Given the description of an element on the screen output the (x, y) to click on. 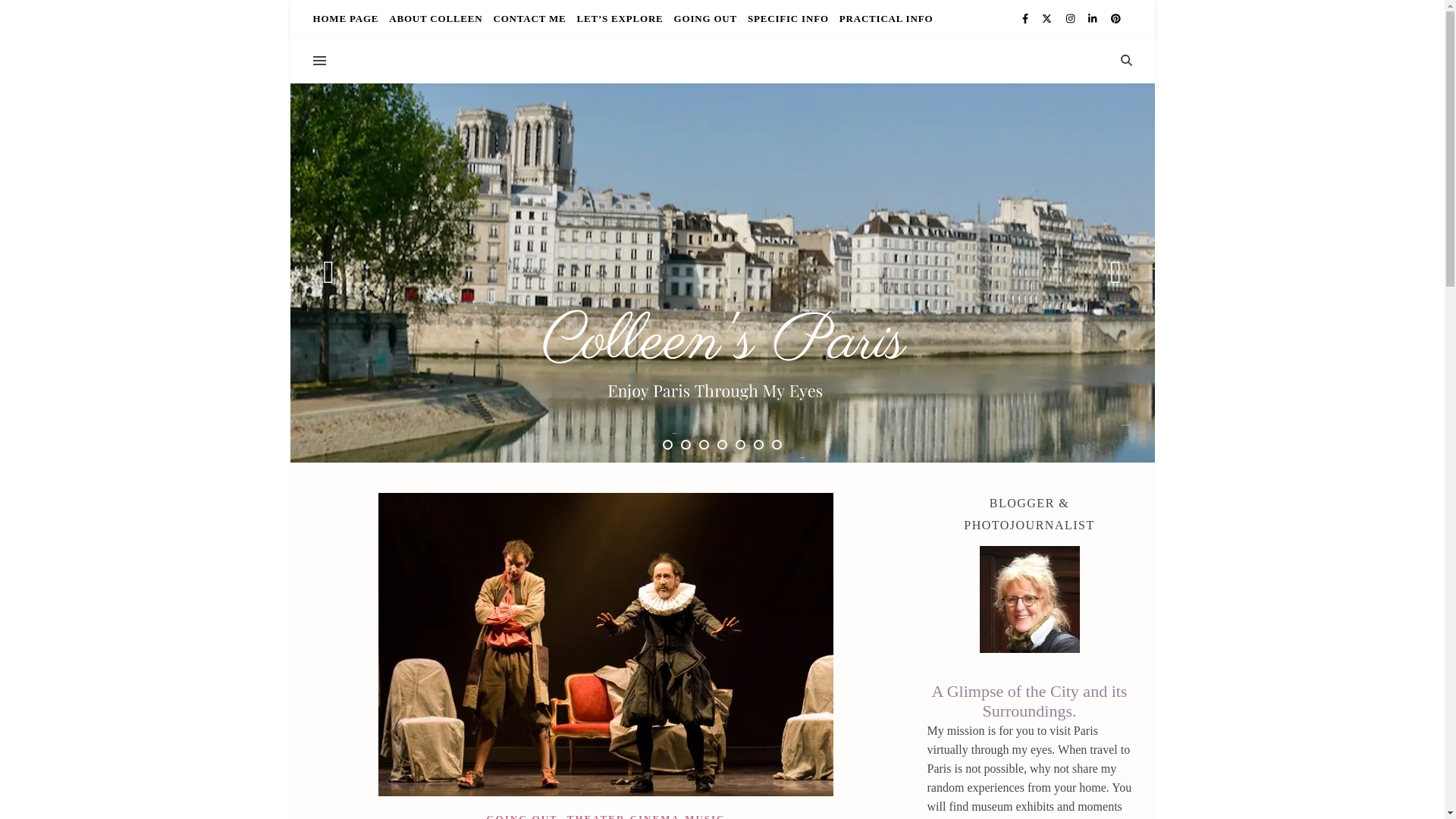
CONTACT ME (529, 18)
ABOUT COLLEEN (435, 18)
GOING OUT (705, 18)
THEATER-CINEMA-MUSIC (646, 816)
GOING OUT (521, 816)
HOME PAGE (347, 18)
SPECIFIC INFO (788, 18)
PRACTICAL INFO (884, 18)
